Given the description of an element on the screen output the (x, y) to click on. 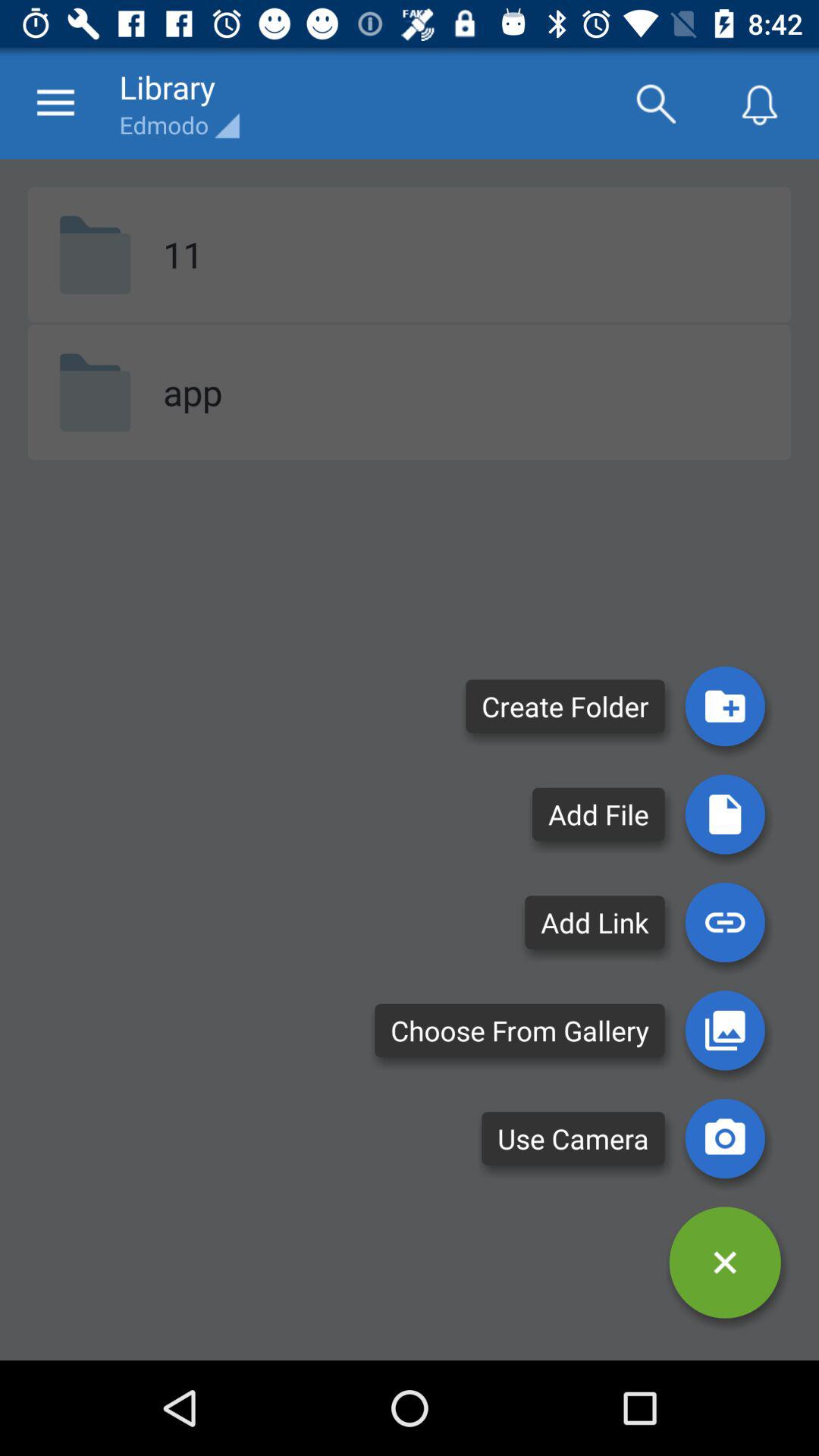
launch the app icon (192, 391)
